Given the description of an element on the screen output the (x, y) to click on. 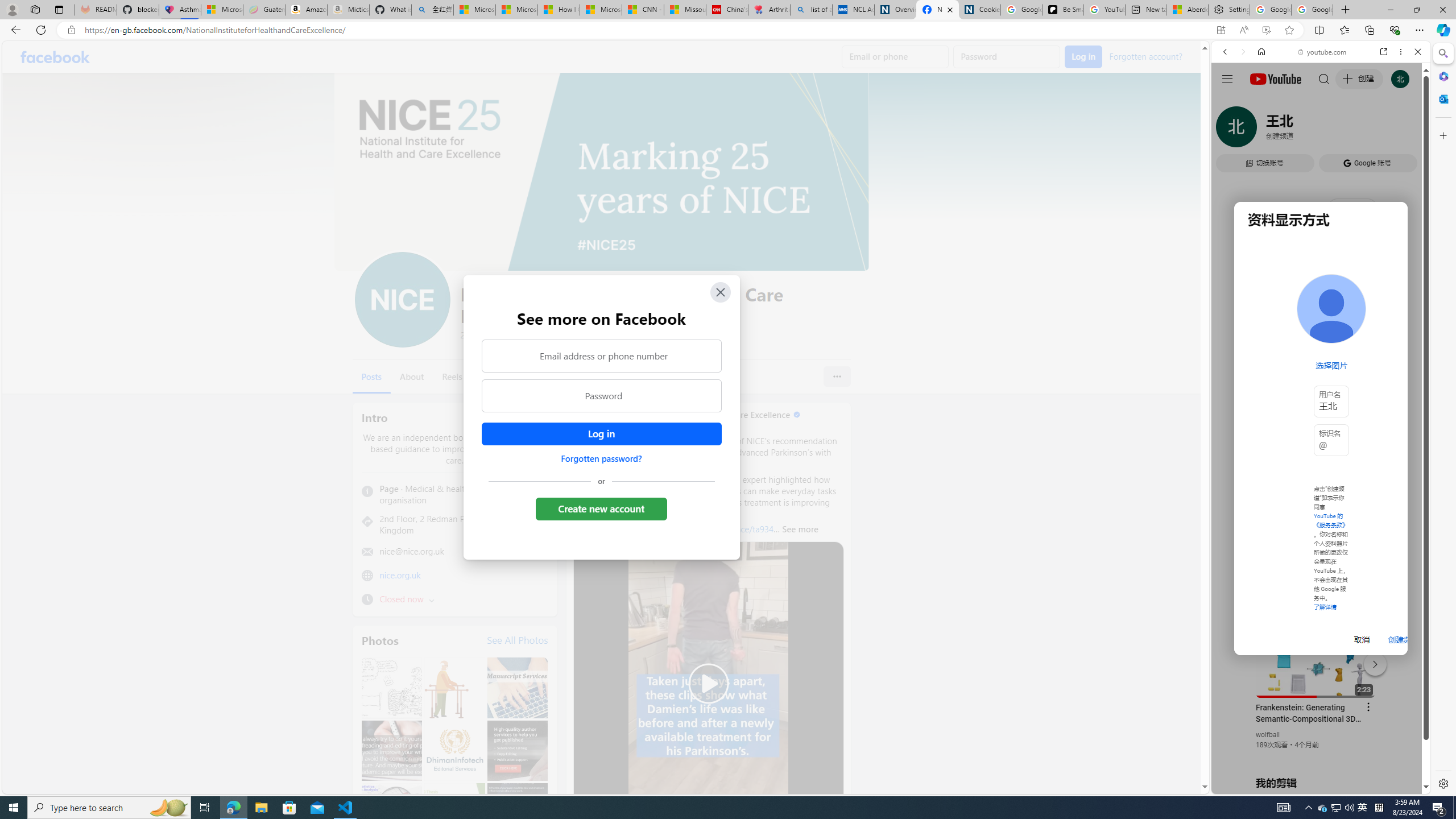
Facebook (55, 56)
App available. Install Facebook (1220, 29)
